Given the description of an element on the screen output the (x, y) to click on. 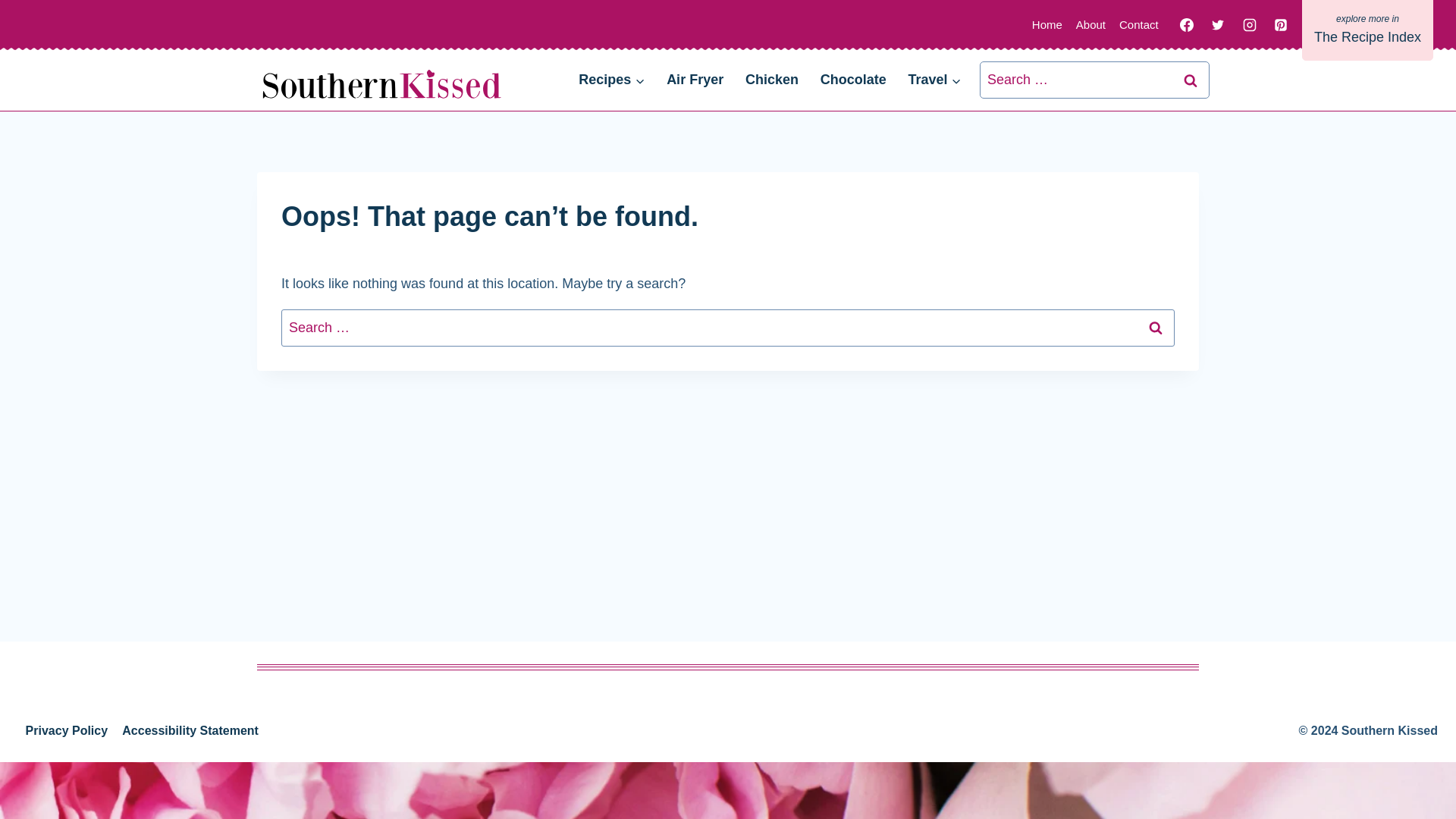
Search (1155, 327)
Air Fryer (695, 79)
Recipes (611, 79)
Home (1046, 24)
Chocolate (852, 79)
The Recipe Index (1366, 30)
Chicken (772, 79)
Search (1190, 79)
Travel (934, 79)
Search (1155, 327)
